Given the description of an element on the screen output the (x, y) to click on. 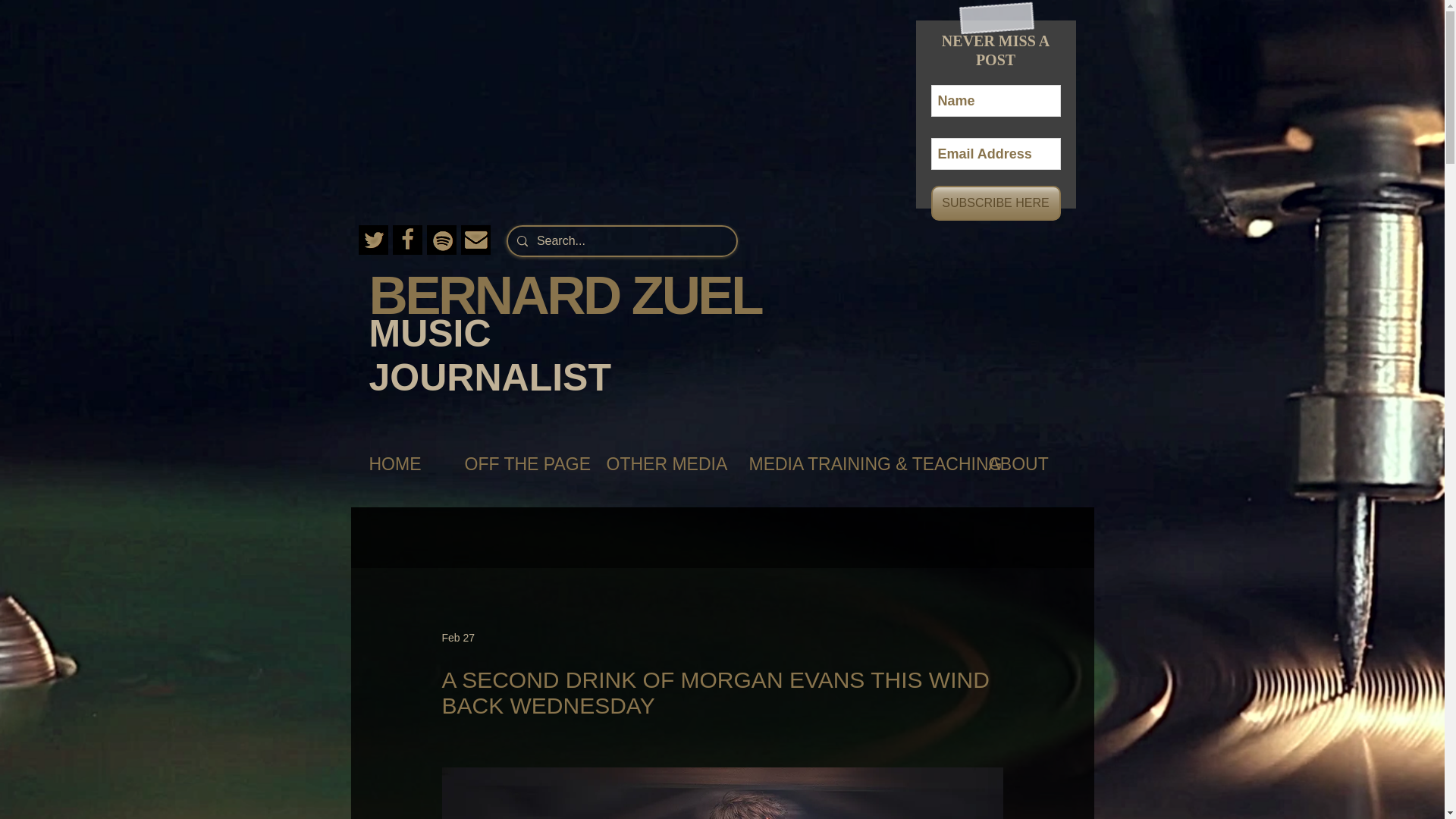
OTHER MEDIA (662, 464)
Feb 27 (457, 636)
HOME (400, 464)
ABOUT (1024, 464)
SUBSCRIBE HERE (996, 202)
